Given the description of an element on the screen output the (x, y) to click on. 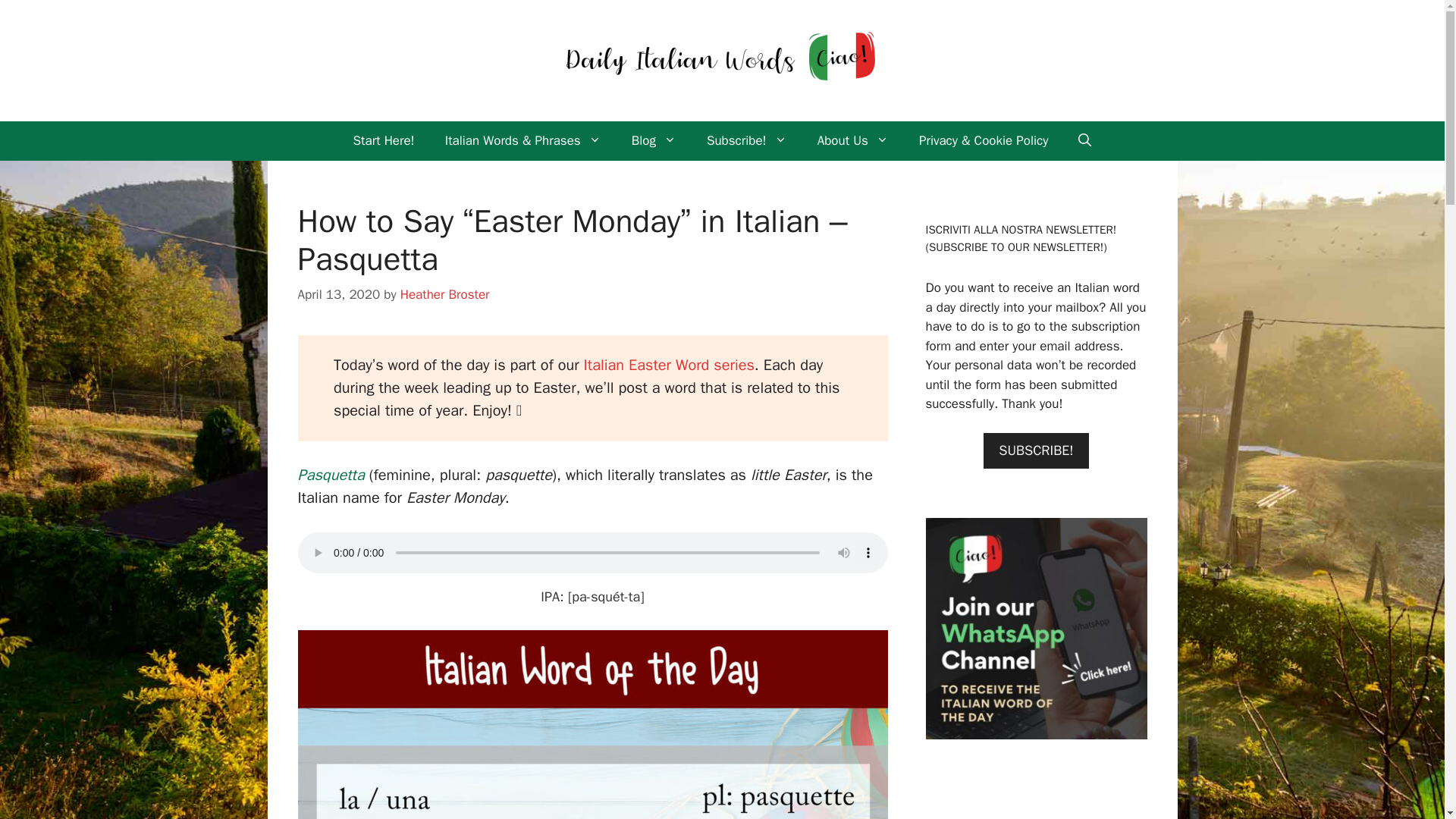
About Us (853, 140)
Start Here! (383, 140)
Subscribe! (746, 140)
View all posts by Heather Broster (444, 294)
Blog (653, 140)
